Given the description of an element on the screen output the (x, y) to click on. 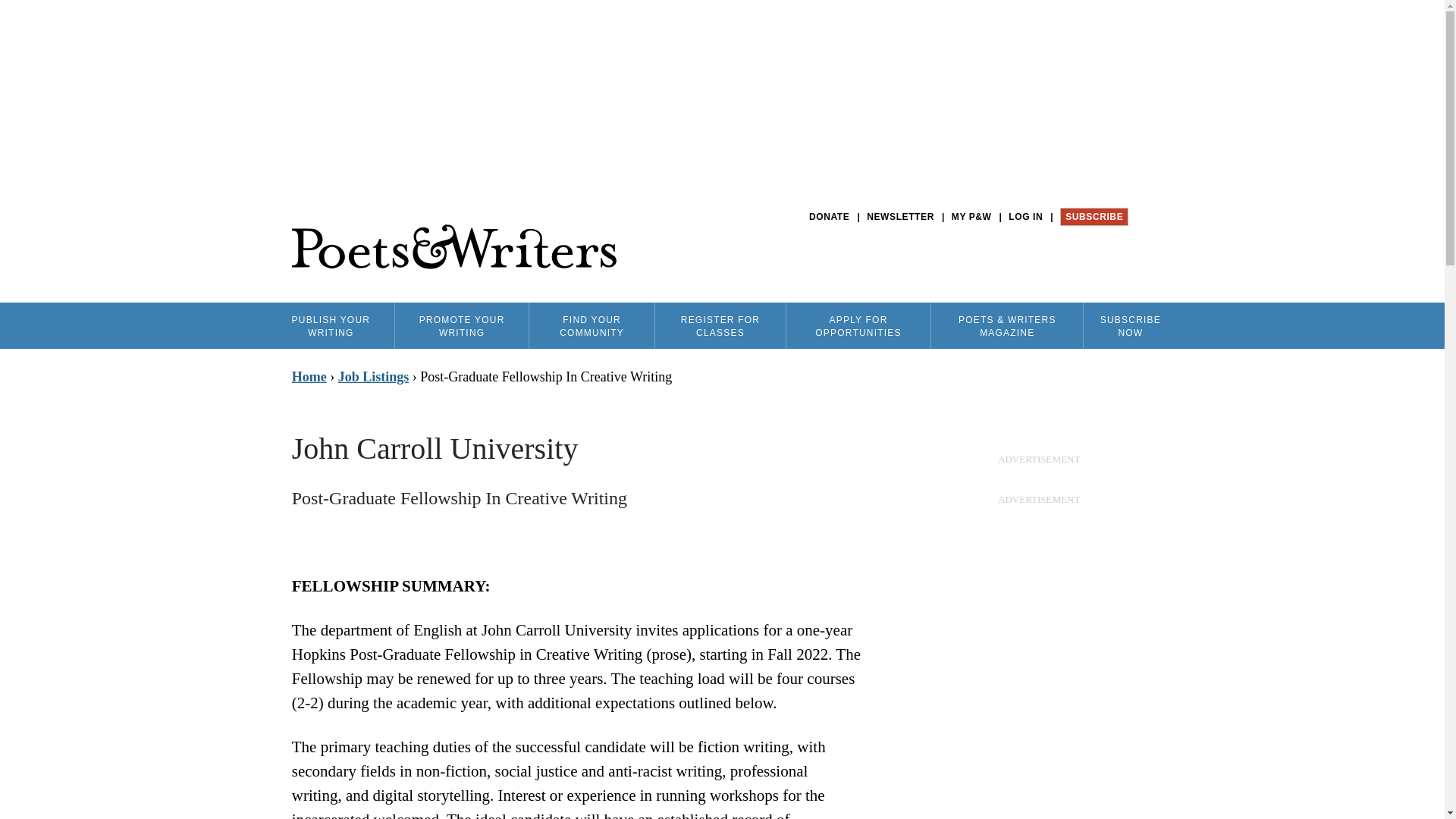
Publish Your Writing (330, 325)
PUBLISH YOUR WRITING (330, 325)
DONATE (828, 216)
NEWSLETTER (900, 216)
SUBSCRIBE (1093, 217)
LOG IN (1025, 216)
Home (453, 246)
PROMOTE YOUR WRITING (461, 325)
